Given the description of an element on the screen output the (x, y) to click on. 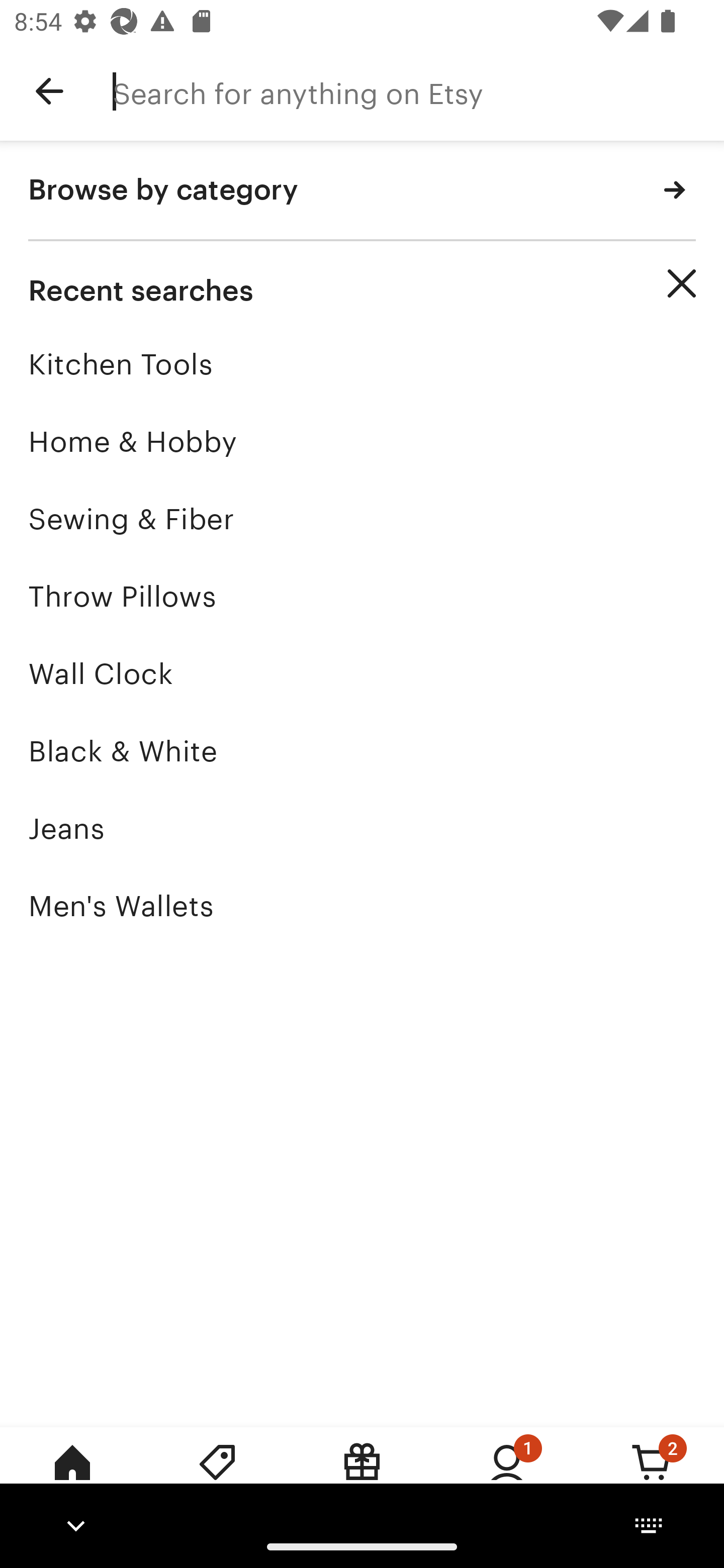
Navigate up (49, 91)
Search for anything on Etsy (418, 91)
Browse by category (362, 191)
Clear (681, 283)
Kitchen Tools (362, 364)
Home & Hobby (362, 440)
Sewing & Fiber (362, 518)
Throw Pillows (362, 596)
Wall Clock (362, 673)
Black & White (362, 750)
Jeans (362, 828)
Men's Wallets (362, 906)
Deals (216, 1475)
Gift Mode (361, 1475)
You, 1 new notification (506, 1475)
Cart, 2 new notifications (651, 1475)
